Given the description of an element on the screen output the (x, y) to click on. 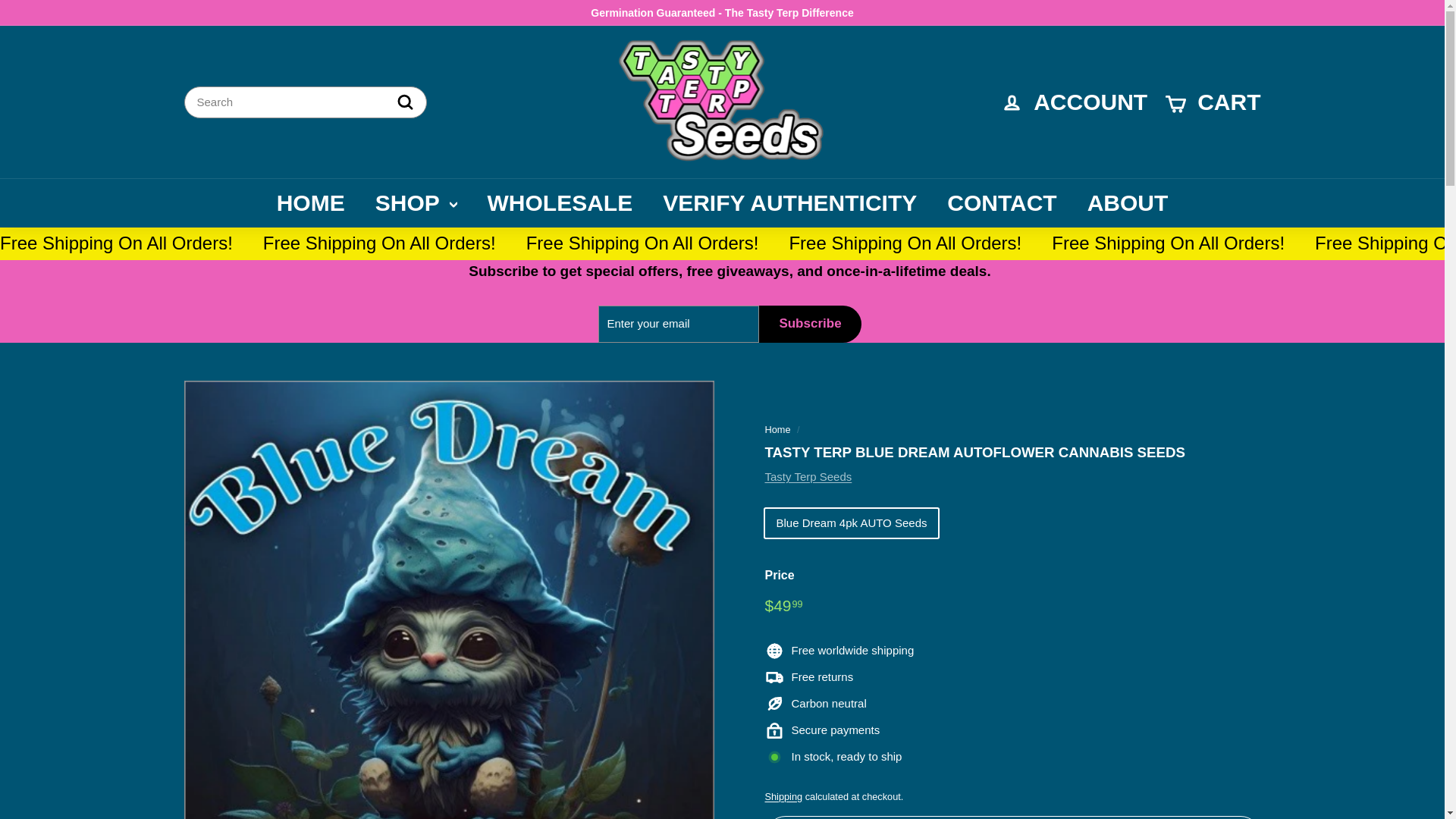
HOME (310, 202)
ABOUT (1127, 202)
WHOLESALE (559, 202)
Back to the frontpage (777, 429)
ACCOUNT (1074, 101)
VERIFY AUTHENTICITY (789, 202)
CART (1212, 101)
CONTACT (1001, 202)
Tasty Terp Seeds (807, 476)
